Given the description of an element on the screen output the (x, y) to click on. 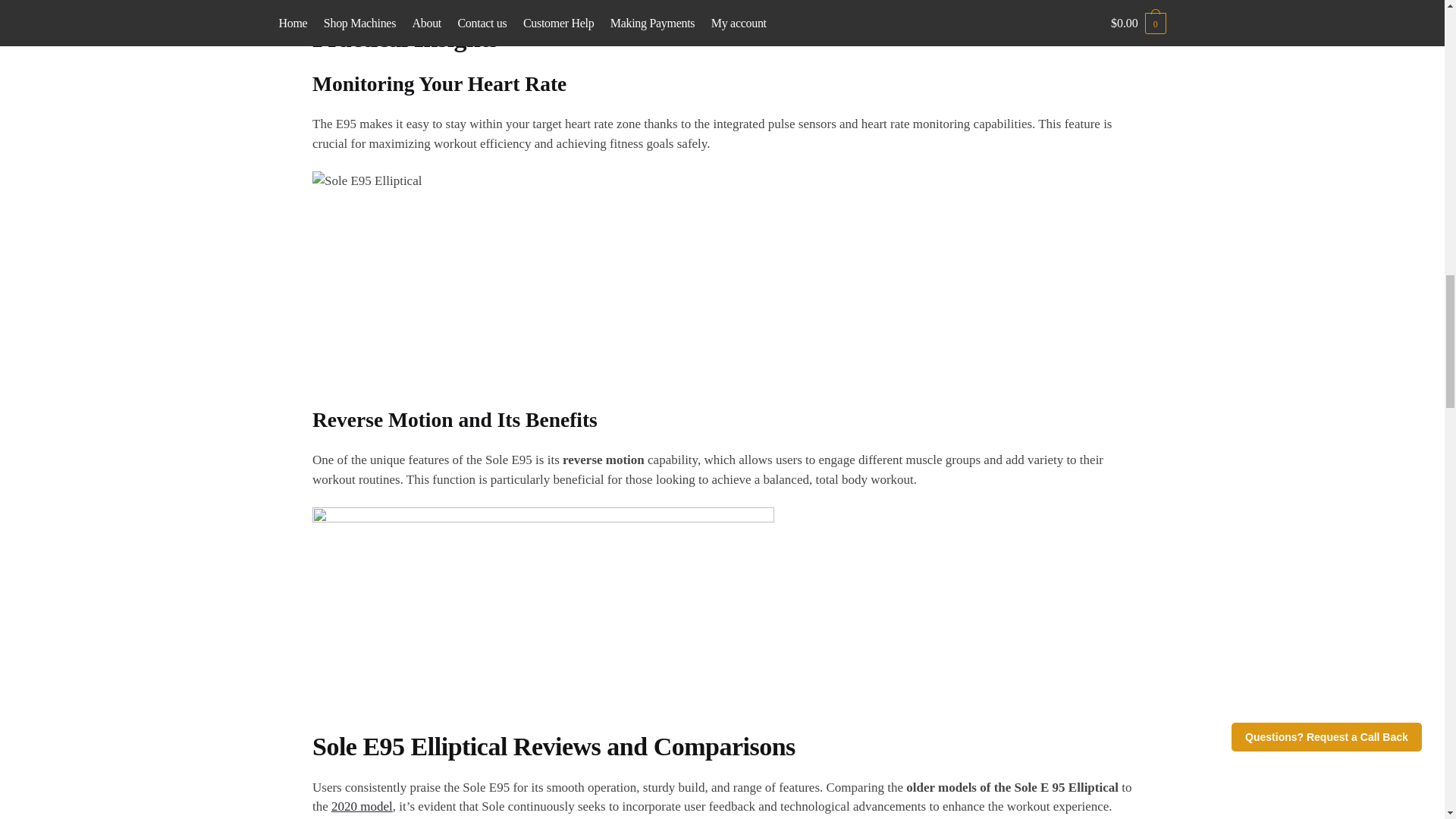
2020 model (362, 806)
Sole E95 Elliptical (553, 287)
